Given the description of an element on the screen output the (x, y) to click on. 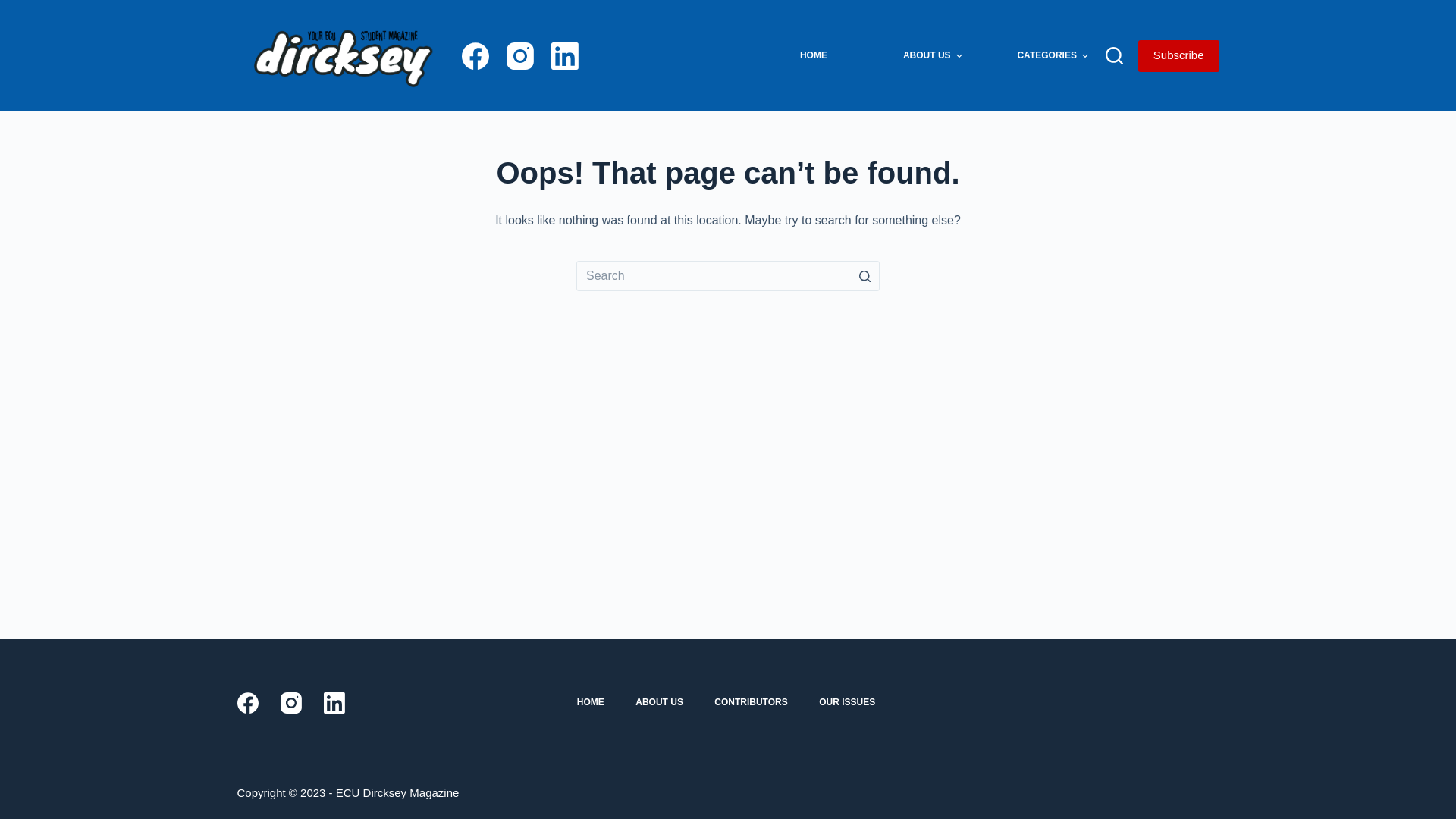
Skip to content Element type: text (15, 7)
Subscribe Element type: text (1178, 55)
ABOUT US Element type: text (932, 55)
HOME Element type: text (589, 702)
CONTRIBUTORS Element type: text (750, 702)
OUR ISSUES Element type: text (847, 702)
HOME Element type: text (813, 55)
Search for... Element type: hover (727, 275)
ABOUT US Element type: text (659, 702)
CATEGORIES Element type: text (1052, 55)
